Given the description of an element on the screen output the (x, y) to click on. 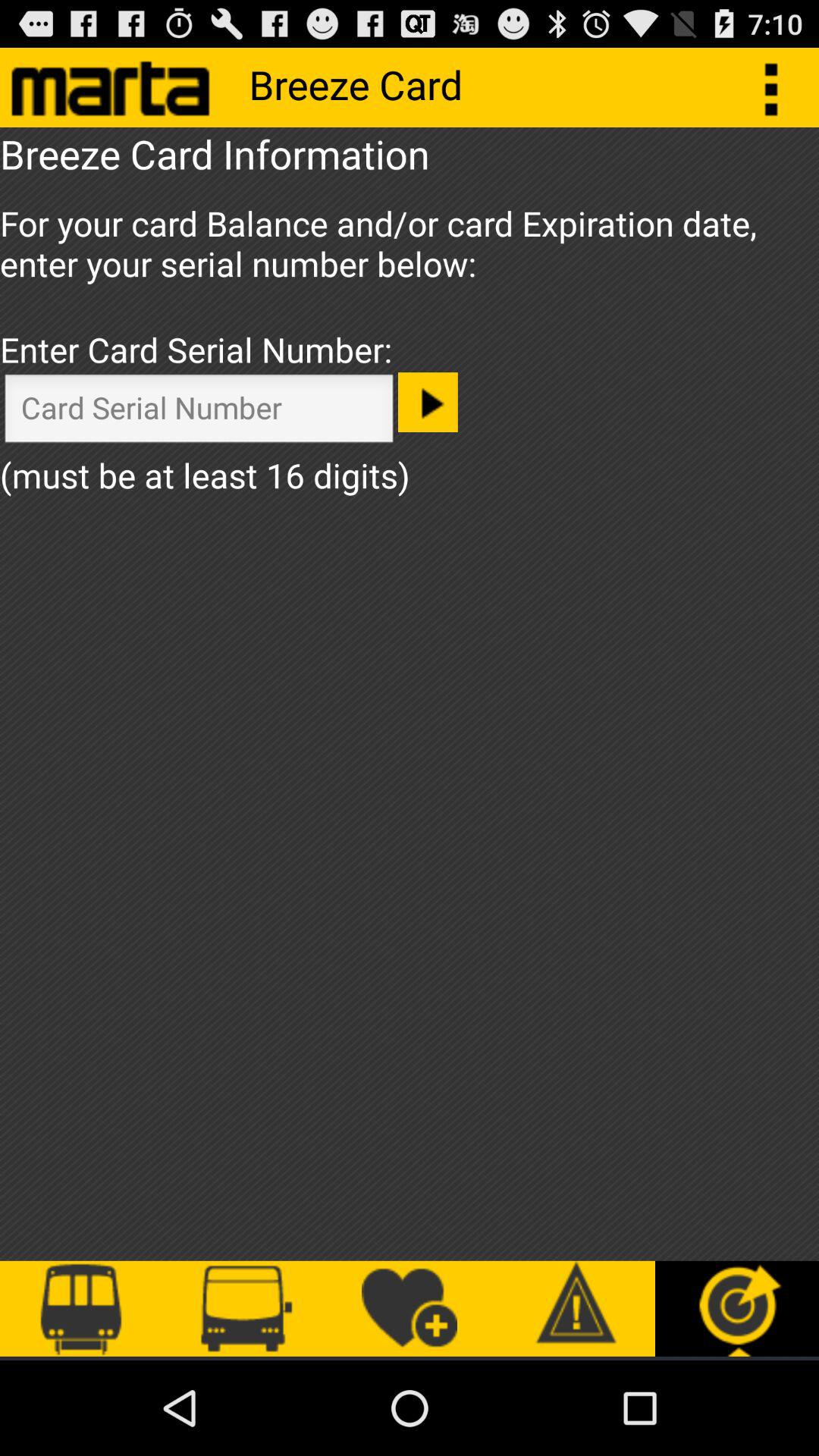
go to search box (199, 412)
